Given the description of an element on the screen output the (x, y) to click on. 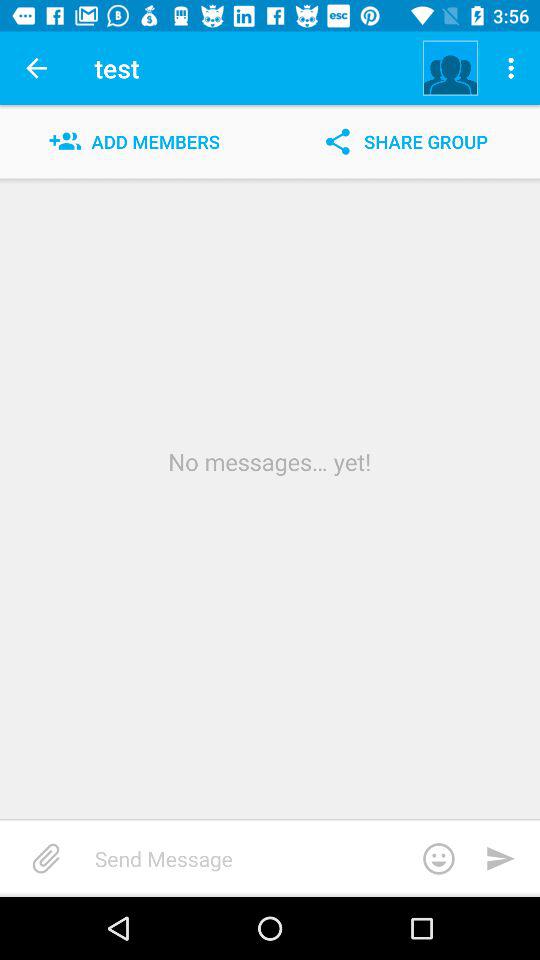
launch icon above share group (513, 67)
